Given the description of an element on the screen output the (x, y) to click on. 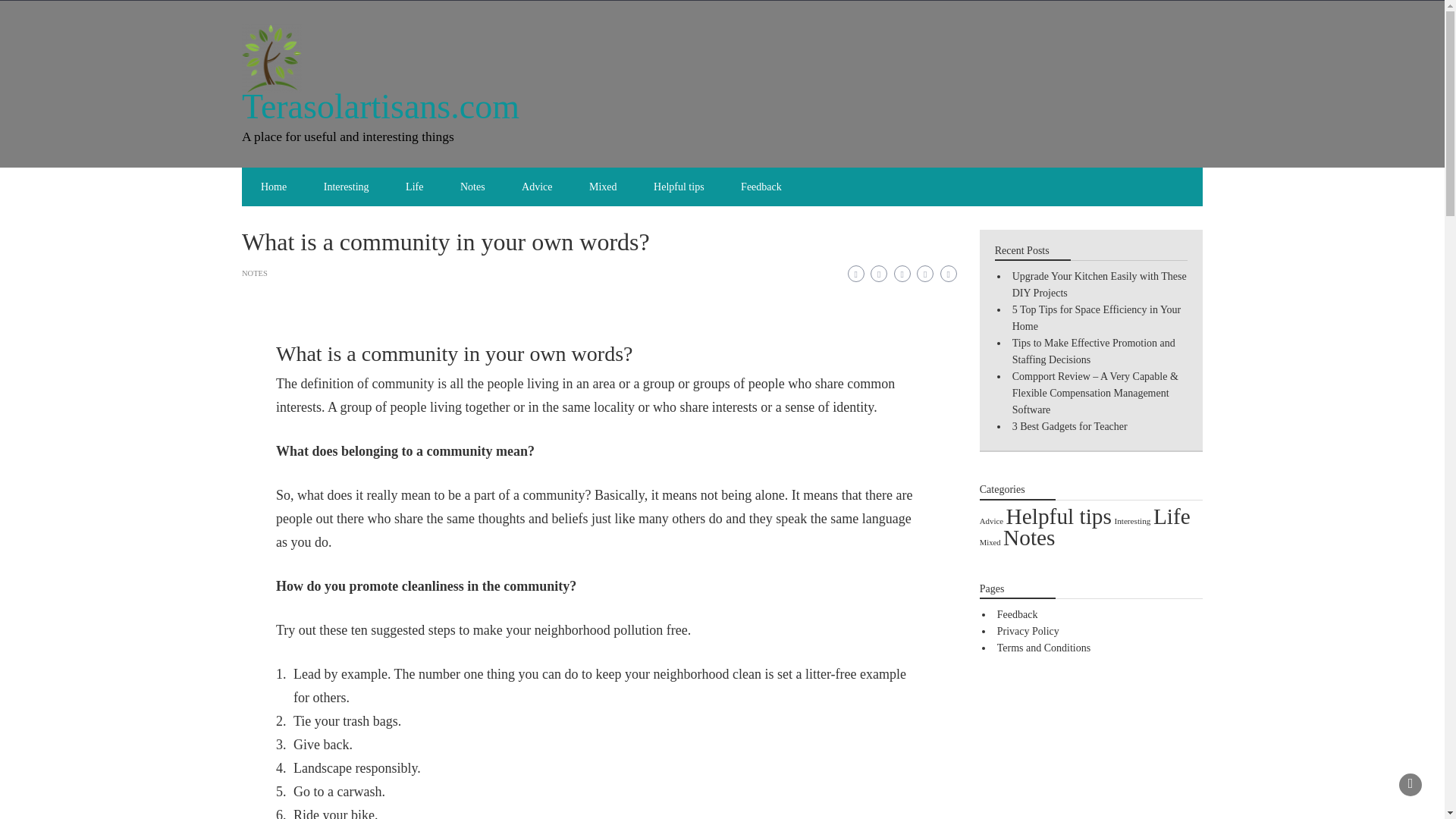
Helpful tips (679, 186)
Mixed (602, 186)
Home (273, 186)
Helpful tips (1059, 516)
5 Top Tips for Space Efficiency in Your Home (1095, 317)
Advice (991, 520)
Advice (536, 186)
Tips to Make Effective Promotion and Staffing Decisions (1092, 351)
Terasolartisans.com (380, 106)
Upgrade Your Kitchen Easily with These DIY Projects (1098, 284)
Notes (472, 186)
3 Best Gadgets for Teacher (1068, 426)
Interesting (346, 186)
Feedback (760, 186)
Life (1172, 516)
